Given the description of an element on the screen output the (x, y) to click on. 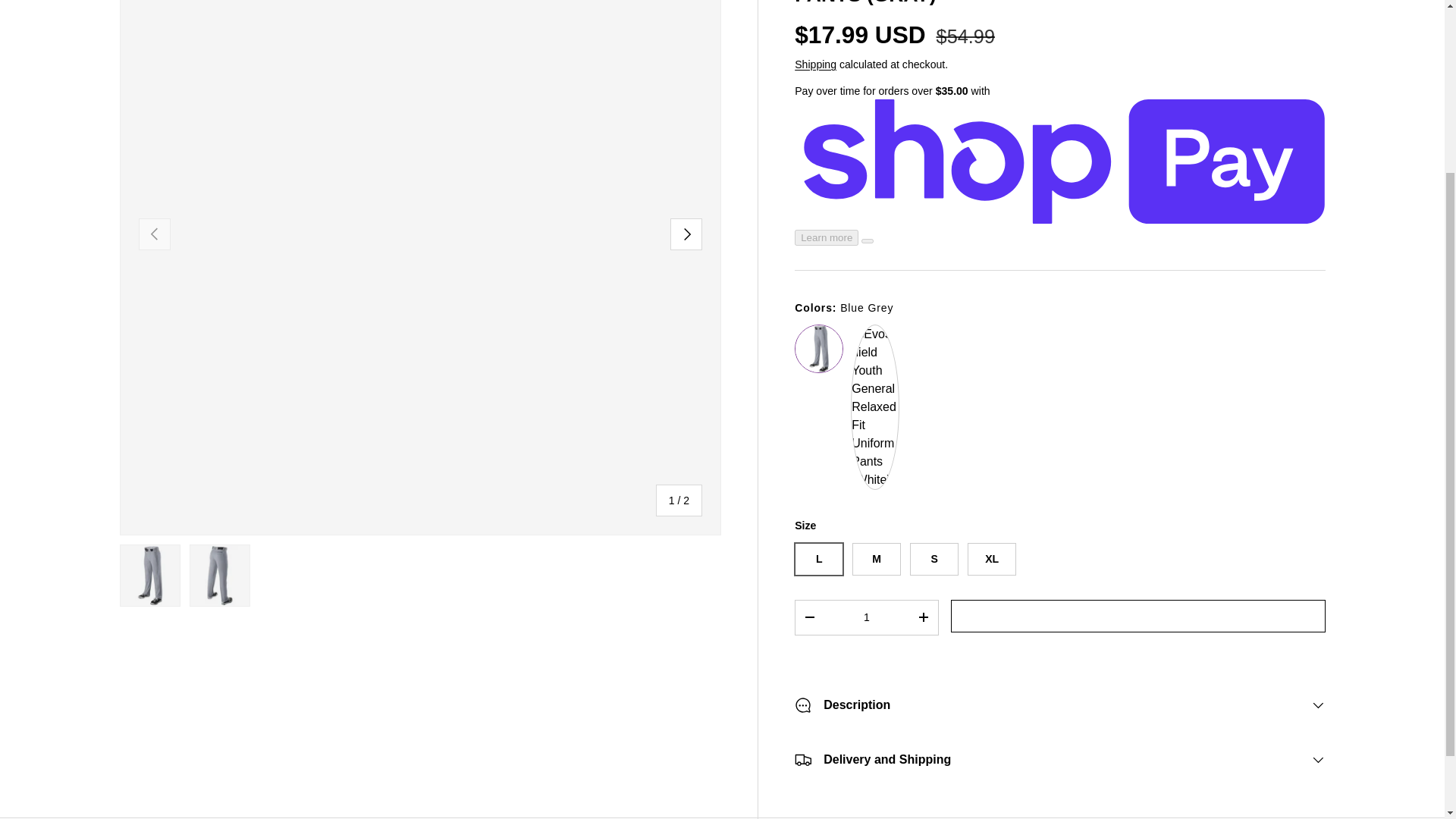
1 (866, 617)
